Given the description of an element on the screen output the (x, y) to click on. 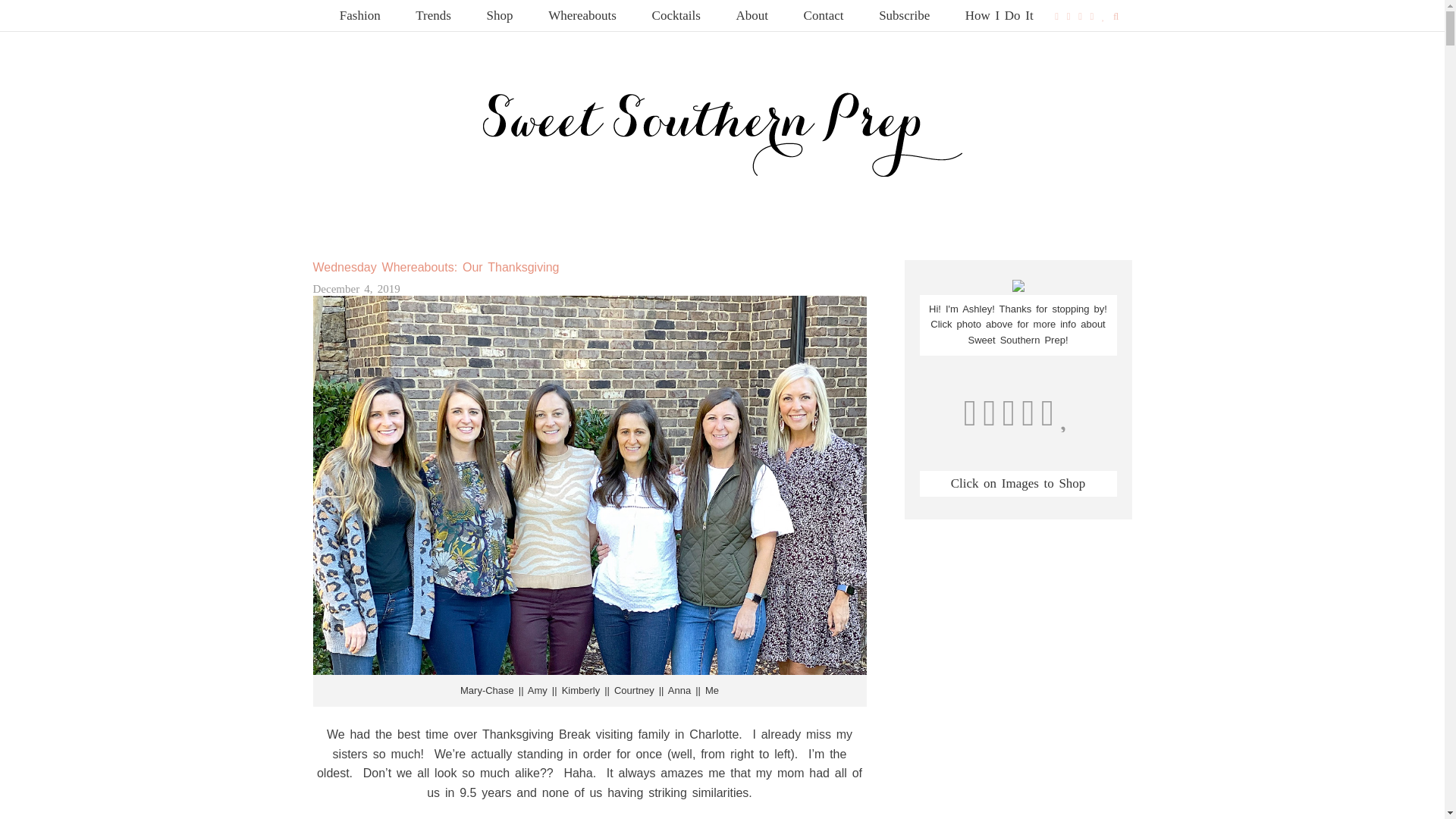
Skip To Content (319, 8)
Shop (499, 15)
Trends (432, 15)
Cocktails (676, 15)
Whereabouts (581, 15)
About (751, 15)
Contact (824, 15)
Fashion (360, 15)
Subscribe (903, 15)
How I Do It (999, 15)
